Given the description of an element on the screen output the (x, y) to click on. 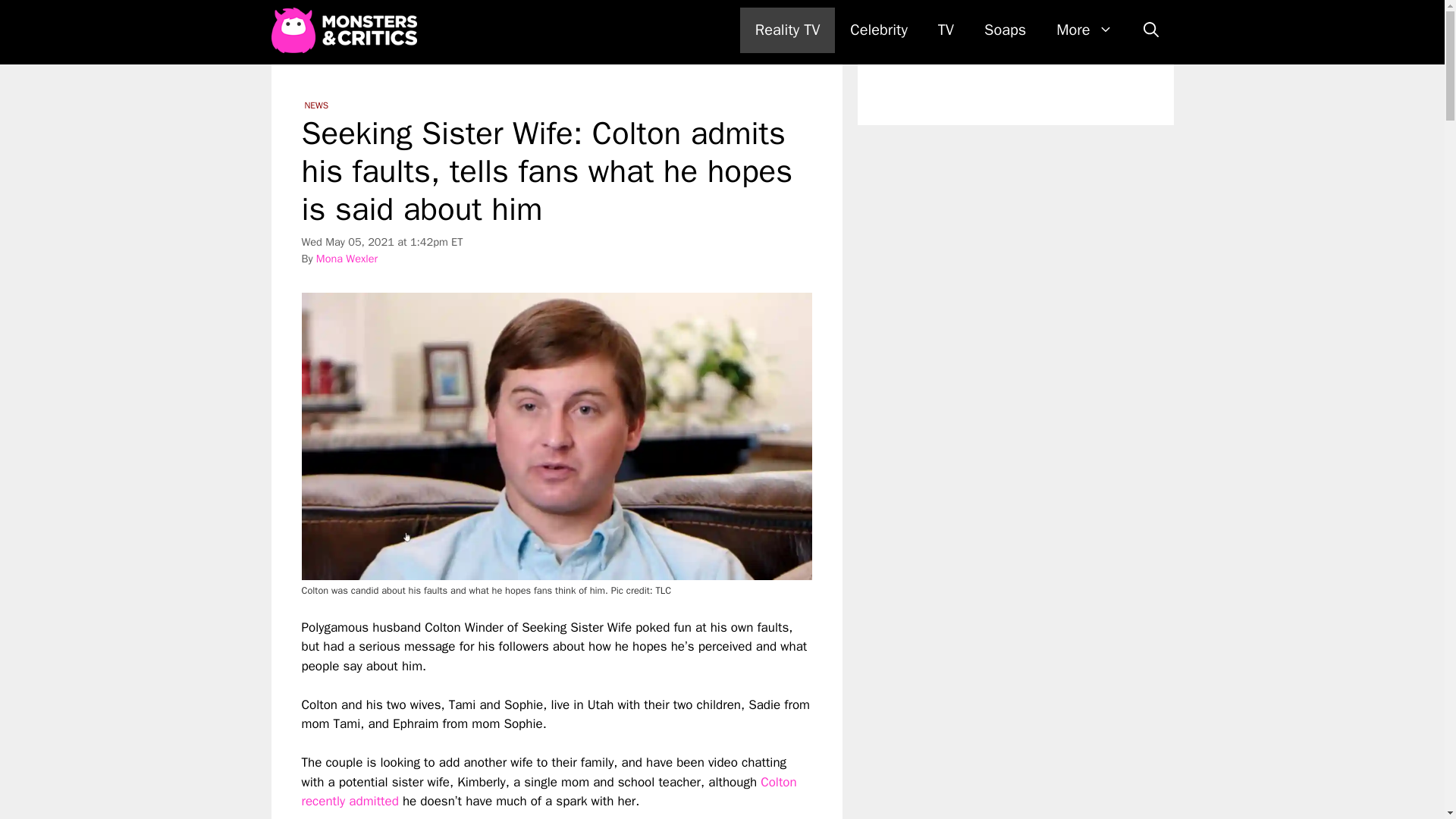
TV (946, 30)
YouTube video player (513, 815)
View all posts by Mona Wexler (346, 258)
Mona Wexler (346, 258)
Monsters and Critics (347, 30)
More (1083, 30)
Celebrity (877, 30)
Monsters and Critics (343, 30)
Reality TV (787, 30)
Colton recently admitted (548, 791)
Soaps (1005, 30)
